Given the description of an element on the screen output the (x, y) to click on. 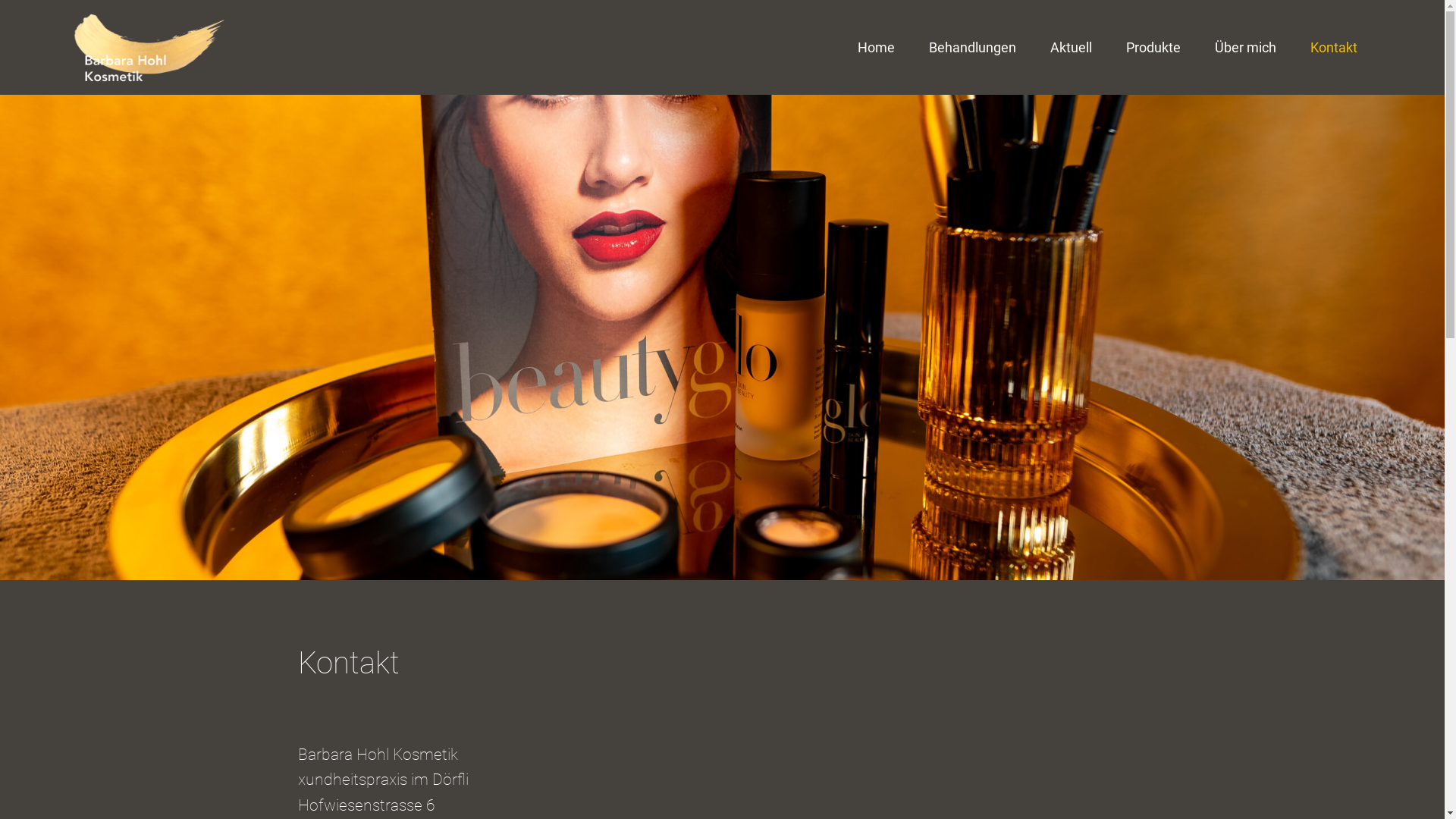
Aktuell Element type: text (1071, 47)
Produkte Element type: text (1152, 47)
Kontakt Element type: text (1333, 47)
Behandlungen Element type: text (972, 47)
Home Element type: text (876, 47)
